Given the description of an element on the screen output the (x, y) to click on. 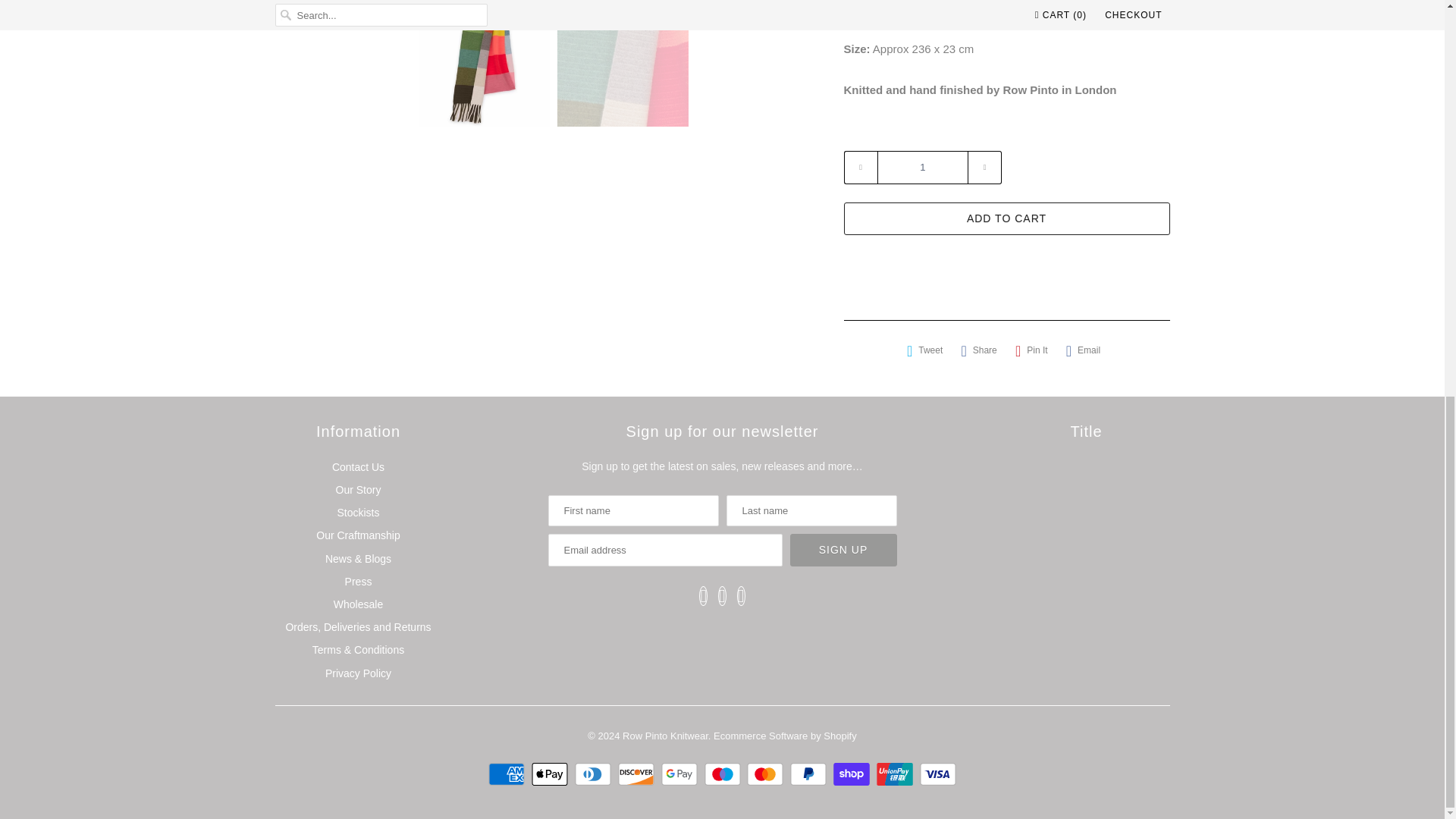
Email this to a friend (1083, 350)
Discover (637, 773)
American Express (507, 773)
Shop Pay (852, 773)
Apple Pay (551, 773)
Sign Up (843, 549)
Visa (938, 773)
Share this on Twitter (924, 350)
Mastercard (766, 773)
1 (922, 167)
